Given the description of an element on the screen output the (x, y) to click on. 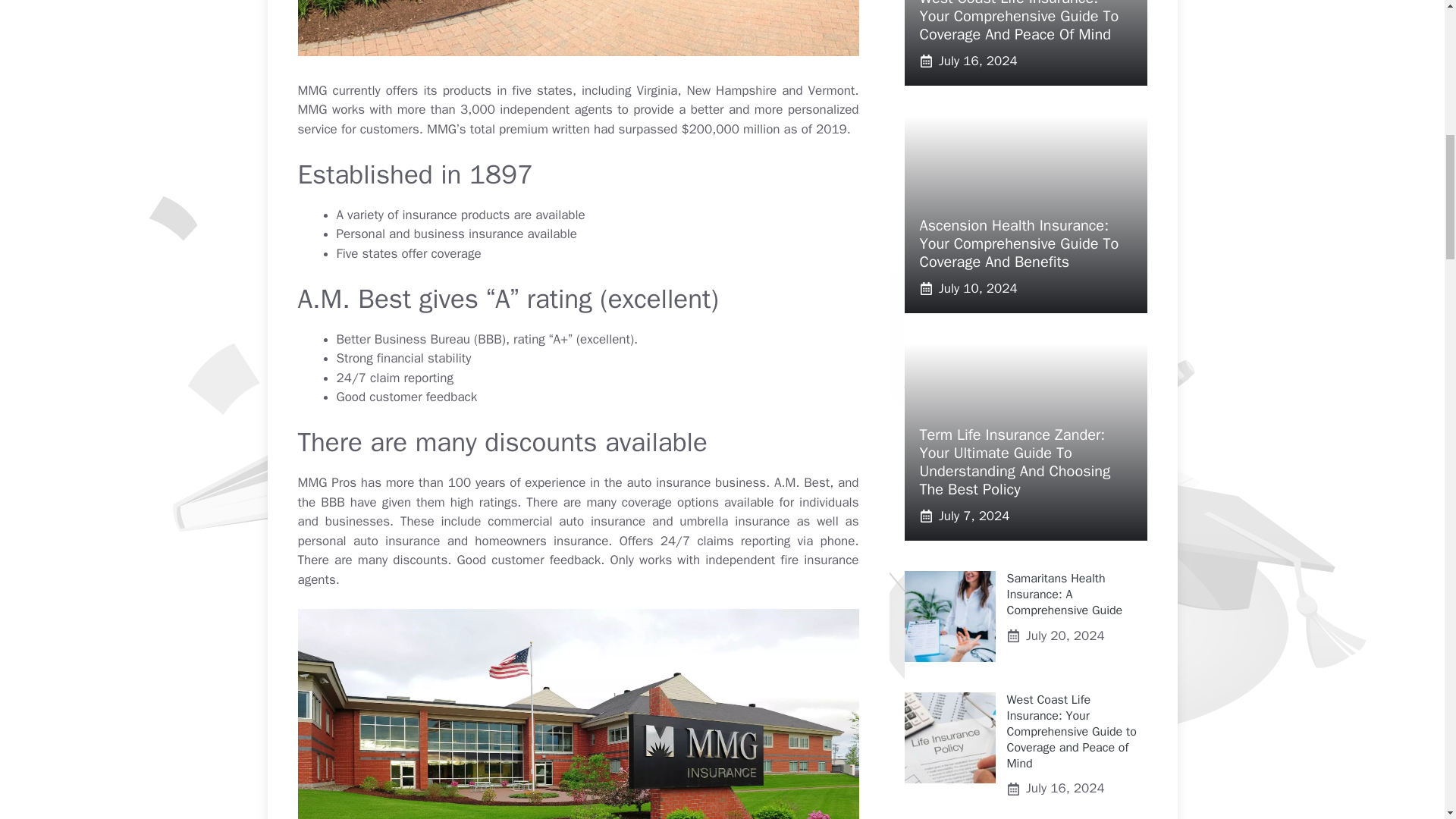
auto insurance (670, 482)
Scroll back to top (1406, 720)
Samaritans Health Insurance: A Comprehensive Guide (1064, 594)
fire insurance (819, 560)
